Given the description of an element on the screen output the (x, y) to click on. 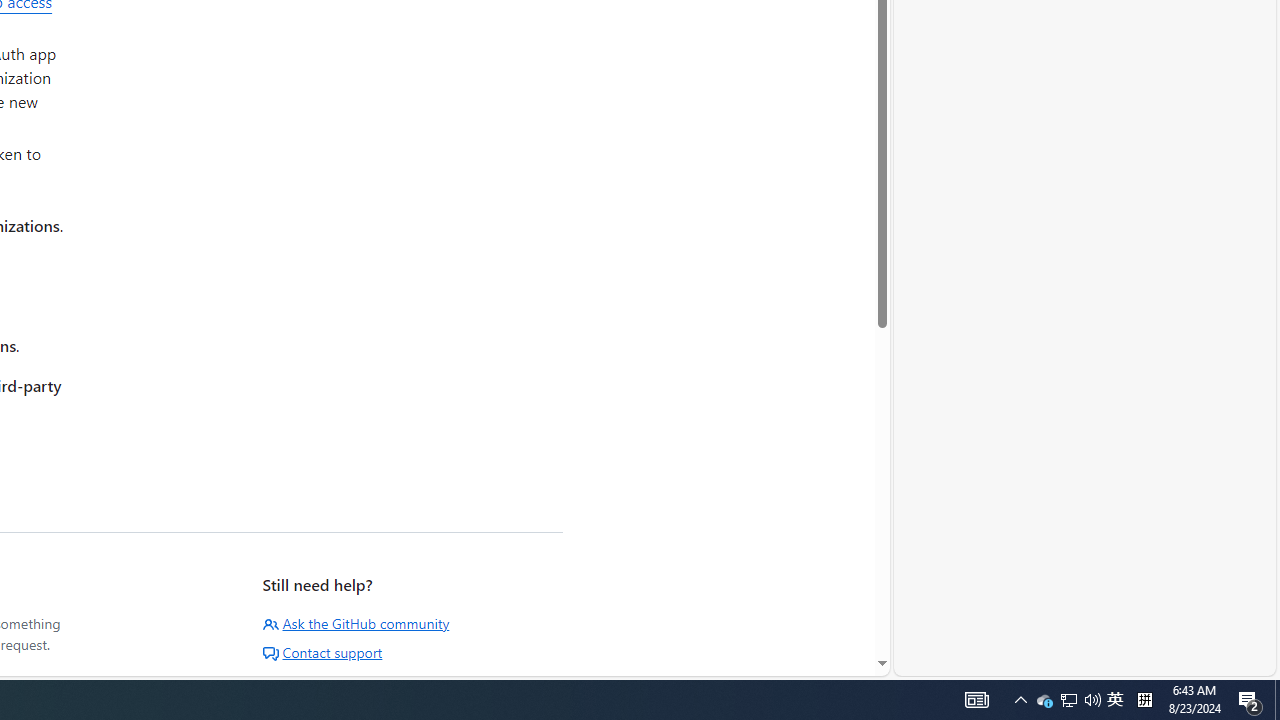
Scroll to top (831, 632)
Contact support (322, 651)
Ask the GitHub community (356, 623)
Scroll to top (831, 632)
